Given the description of an element on the screen output the (x, y) to click on. 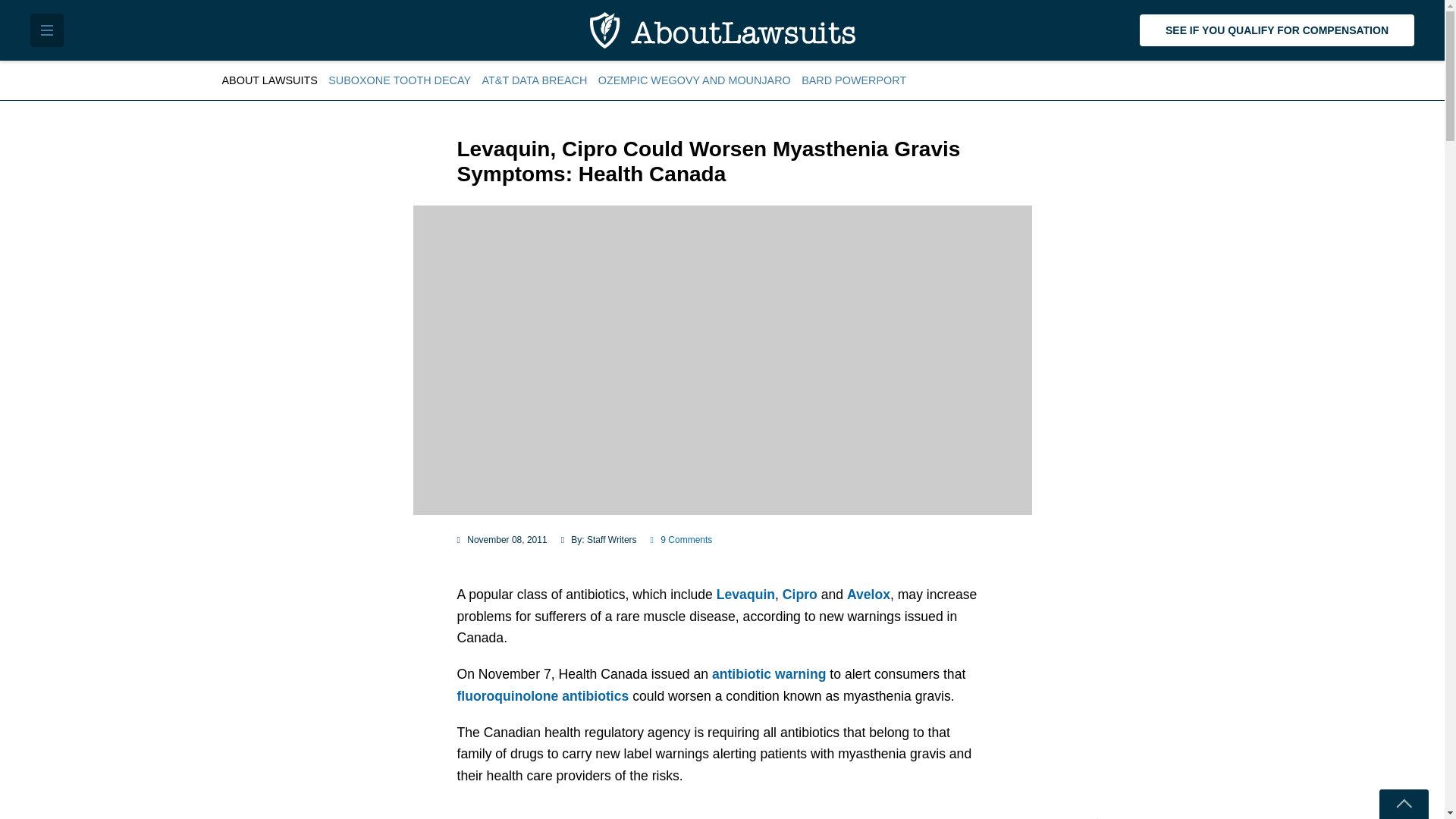
9 Comments (681, 539)
ABOUT LAWSUITS (272, 80)
Cipro (799, 594)
fluoroquinolone antibiotics (542, 695)
Levaquin (745, 594)
antibiotic warning (769, 673)
OZEMPIC WEGOVY AND MOUNJARO (694, 80)
SUBOXONE TOOTH DECAY (399, 80)
SEE IF YOU QUALIFY FOR COMPENSATION (1276, 30)
Toggle newsletter signup form. (1403, 804)
